Given the description of an element on the screen output the (x, y) to click on. 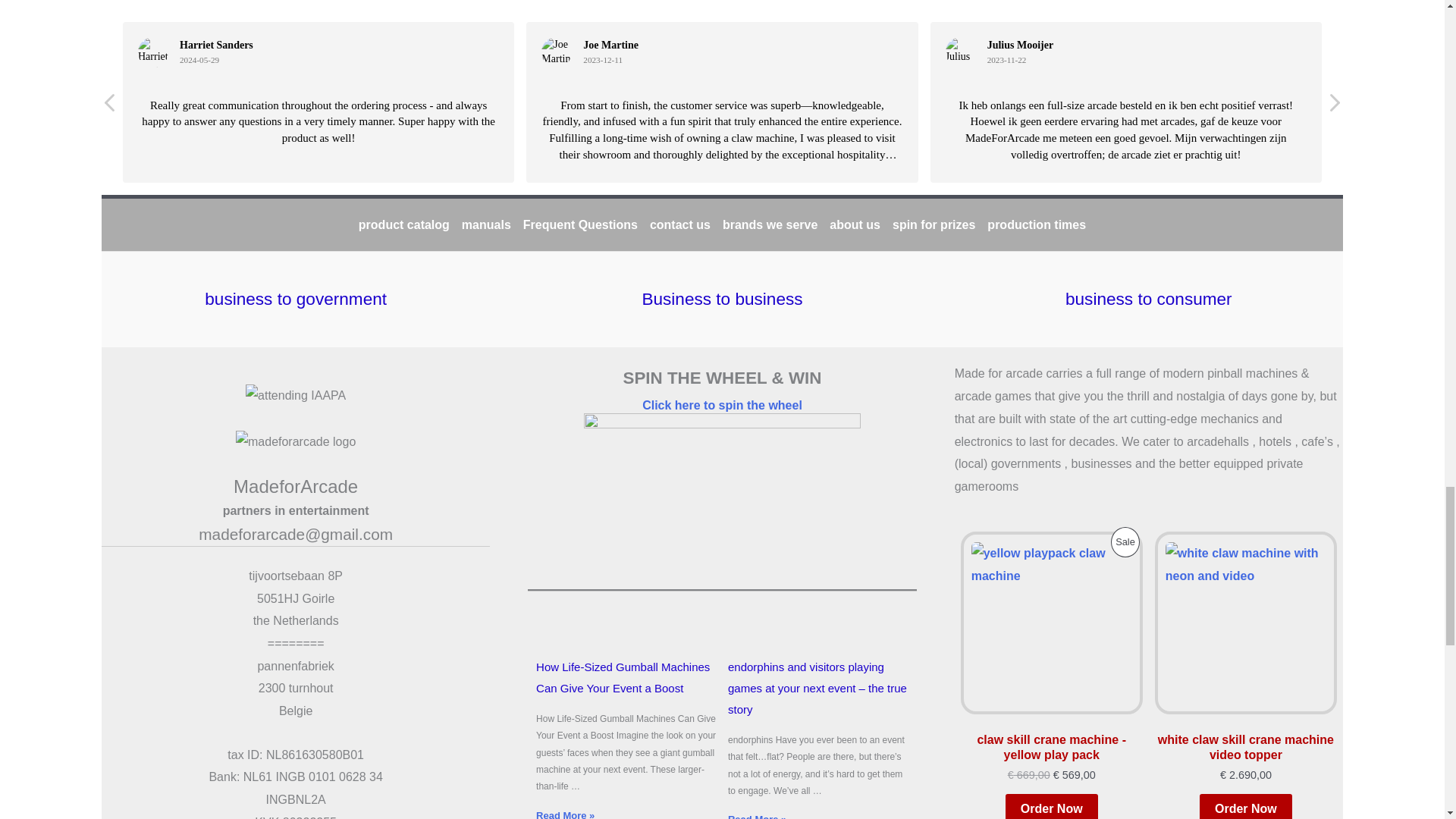
win prizes (722, 404)
attending IAAPA (296, 395)
